Given the description of an element on the screen output the (x, y) to click on. 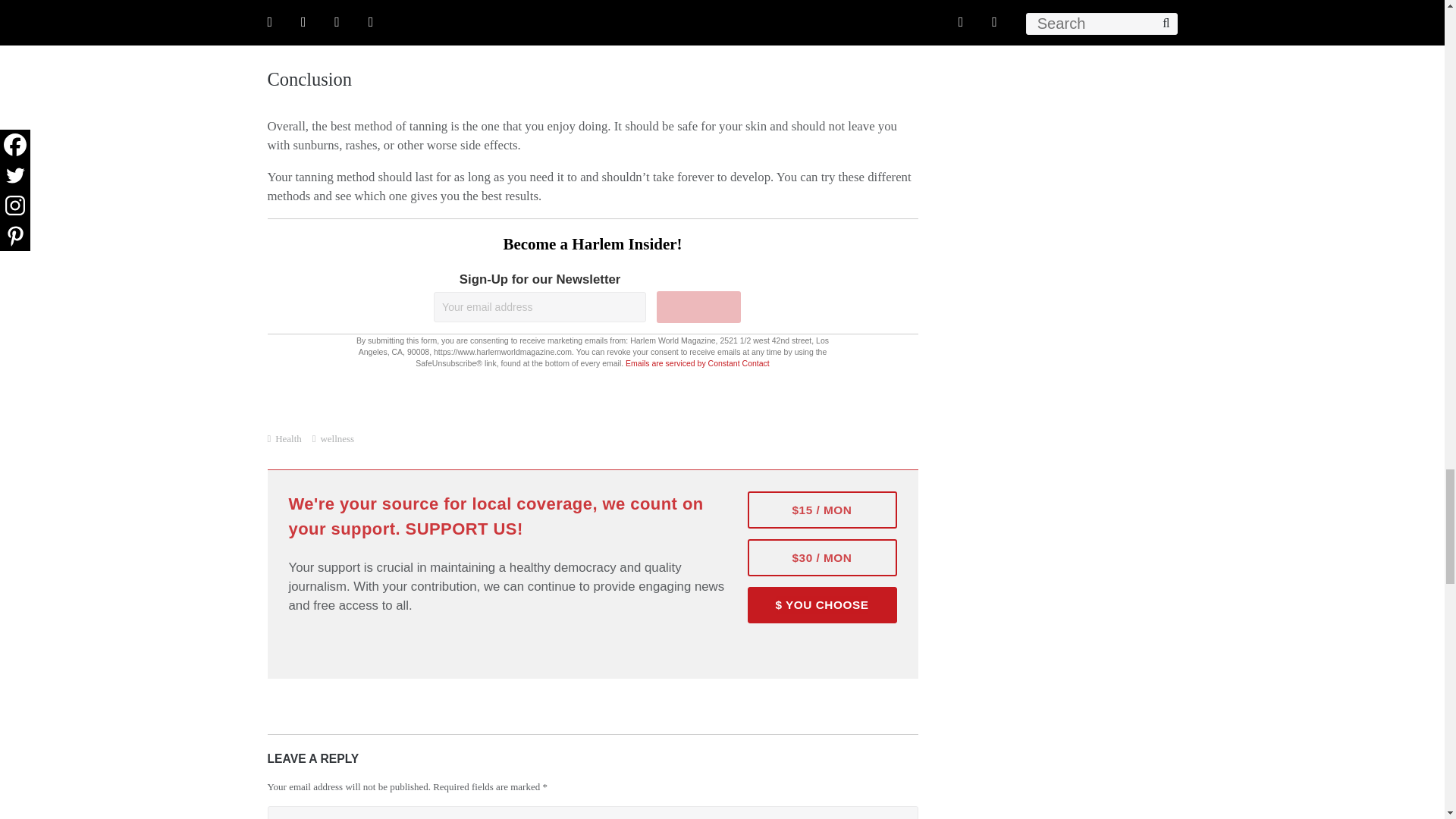
Emails are serviced by Constant Contact (698, 362)
wellness (336, 438)
Health (288, 438)
Sign up (698, 306)
Sign up (698, 306)
